Given the description of an element on the screen output the (x, y) to click on. 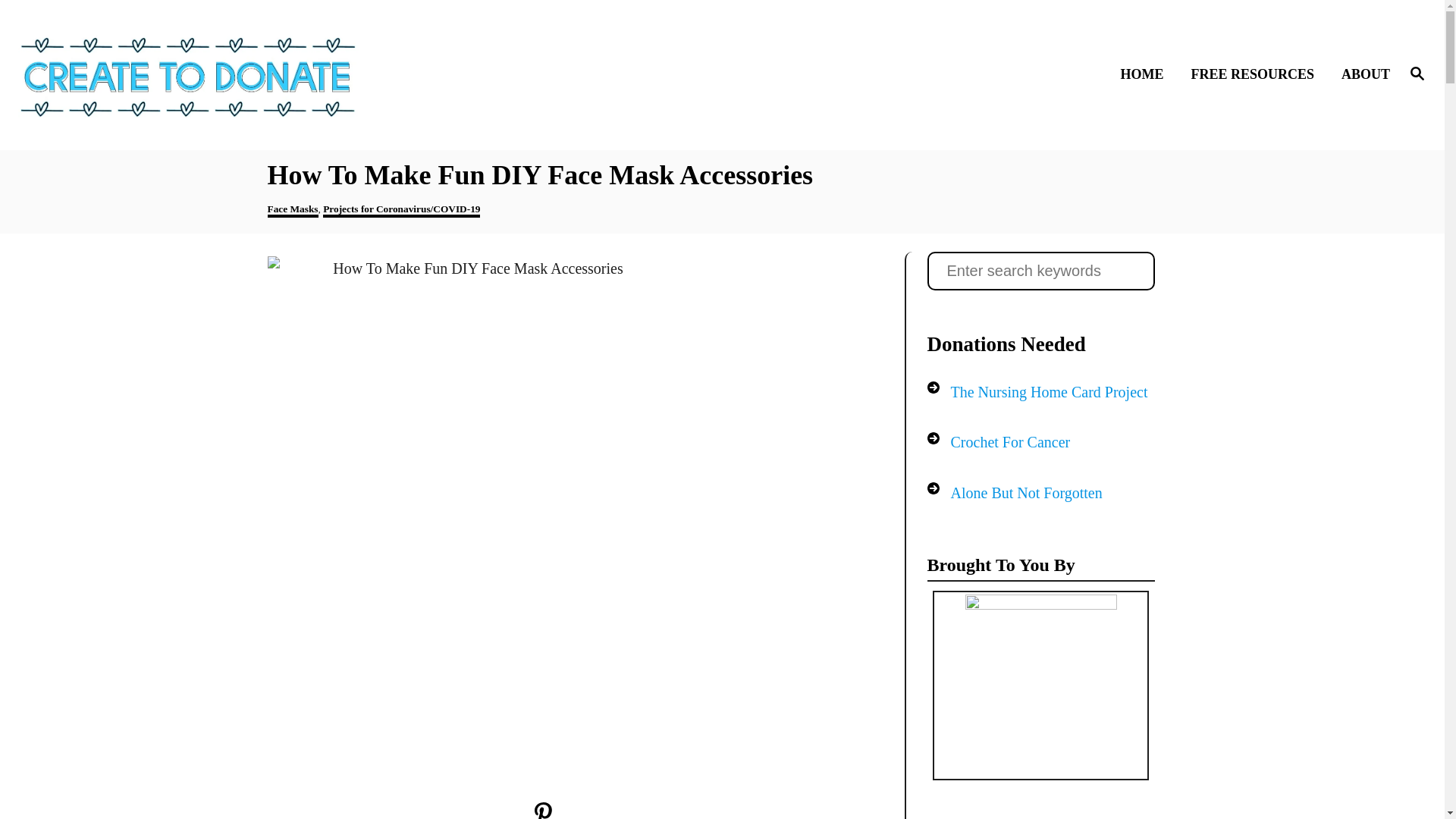
Magnifying Glass (1416, 73)
Search for: (1040, 270)
ABOUT (1361, 74)
Save (542, 816)
FREE RESOURCES (1256, 74)
HOME (1145, 74)
Face Masks (291, 210)
Create To Donate (187, 74)
